Given the description of an element on the screen output the (x, y) to click on. 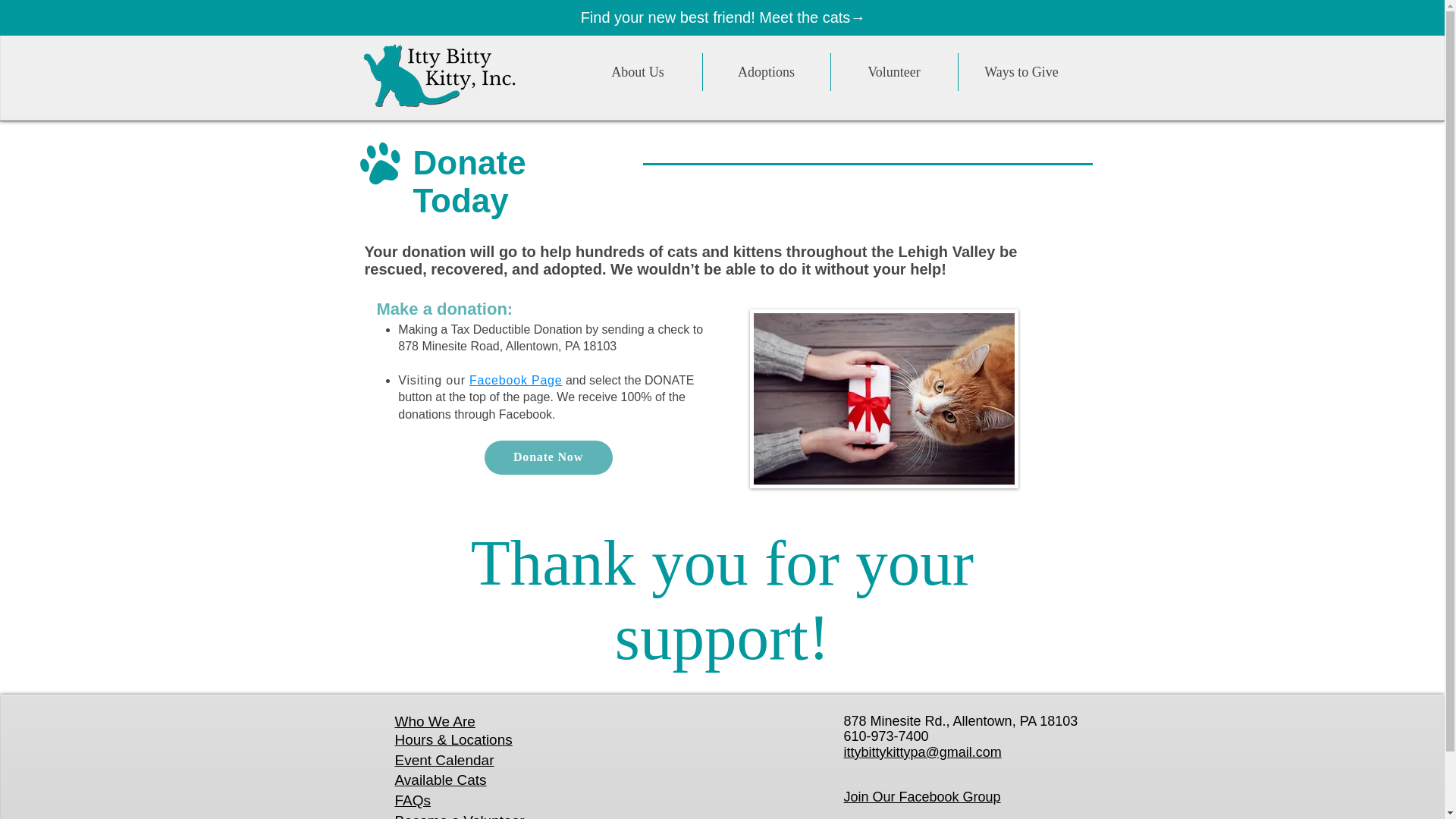
Ways to Give (1020, 71)
Become a Volunteer (459, 816)
Volunteer (892, 71)
Adoptions (765, 71)
About Us (637, 71)
Available Cats (440, 779)
Facebook Page  (517, 379)
Donate Now (547, 457)
Event Calendar (443, 760)
Join Our Facebook Group (921, 796)
Who We Are (434, 722)
FAQs (412, 800)
